Given the description of an element on the screen output the (x, y) to click on. 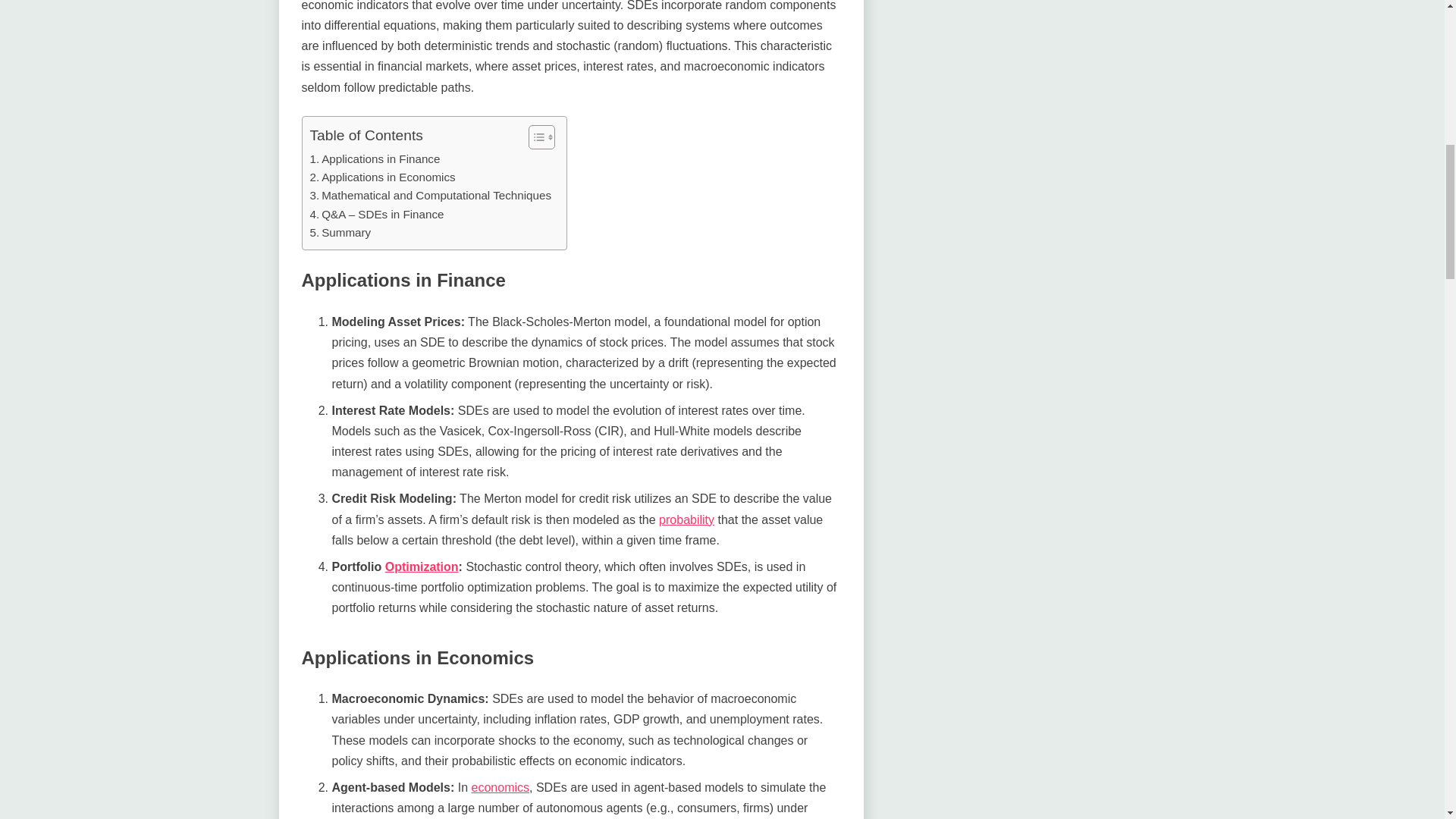
Summary (339, 232)
Applications in Finance (373, 158)
Applications in Finance (373, 158)
Applications in Economics (381, 177)
probability (686, 519)
Mathematical and Computational Techniques (429, 195)
Applications in Economics (381, 177)
economics (500, 787)
Optimization (421, 566)
Summary (339, 232)
